Given the description of an element on the screen output the (x, y) to click on. 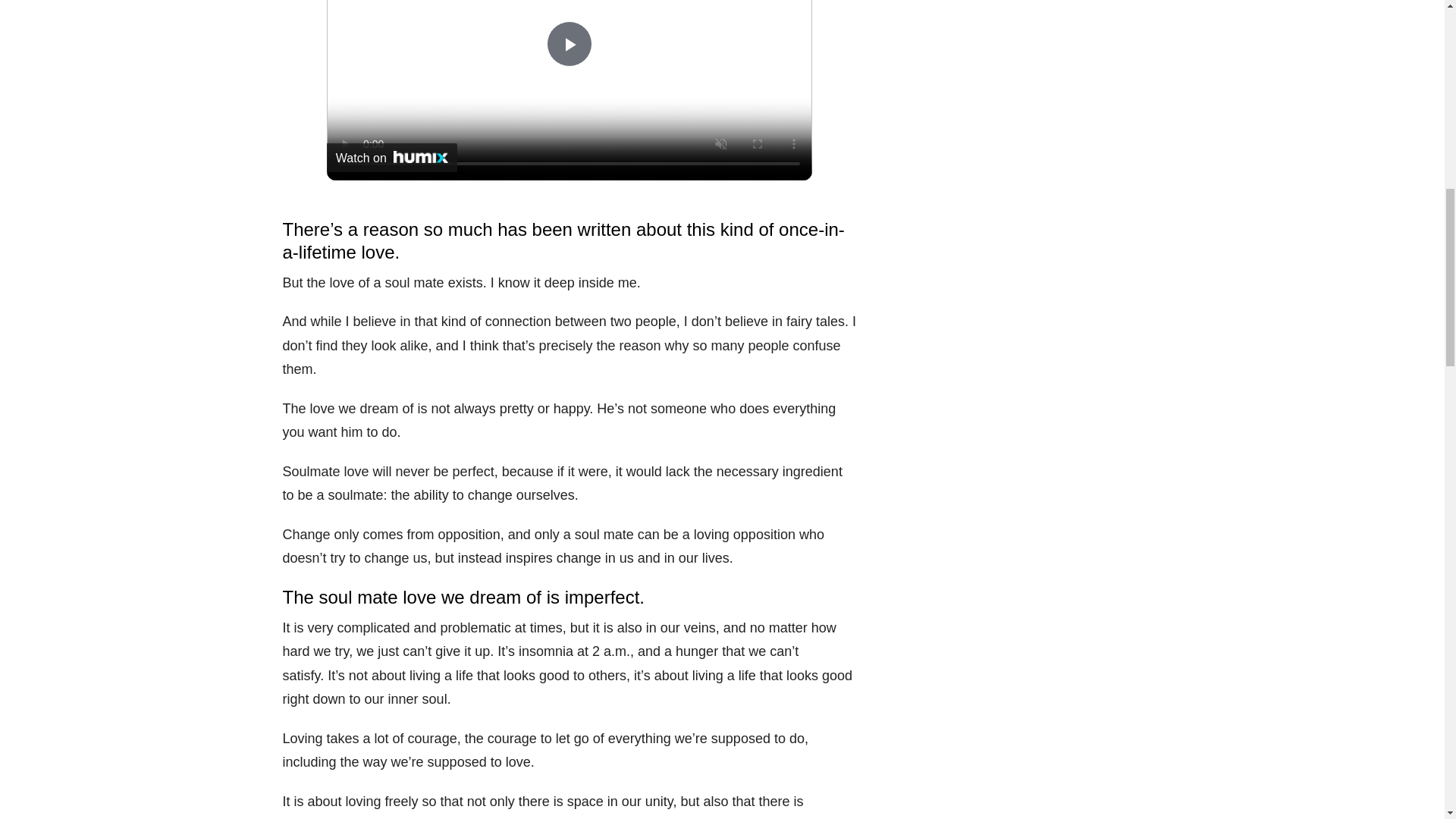
Play Video (569, 43)
Watch on (391, 156)
Play Video (569, 43)
